Given the description of an element on the screen output the (x, y) to click on. 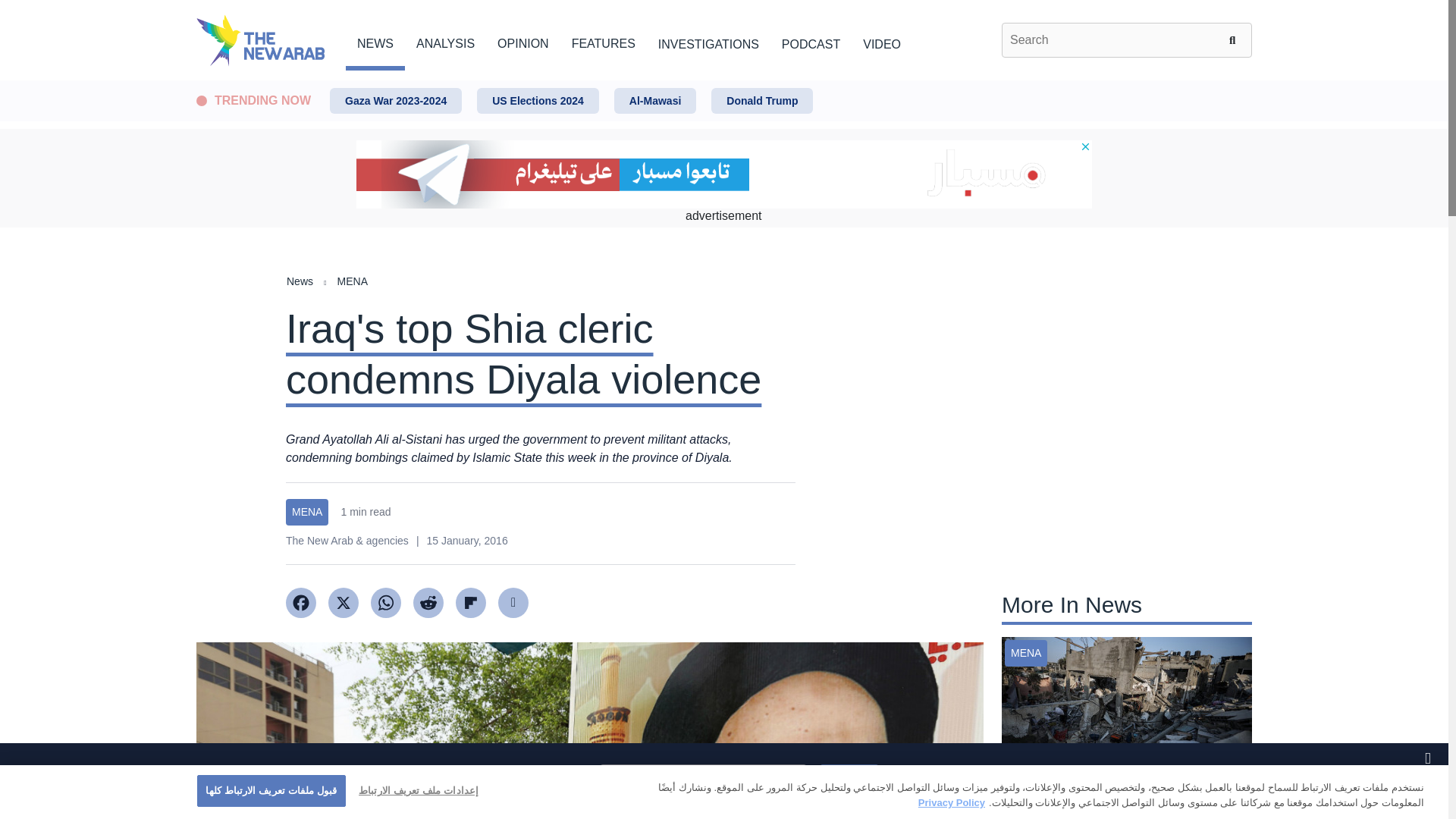
ANALYSIS (445, 41)
NEWS (375, 41)
OPINION (523, 41)
Skip to main content (724, 81)
Search (1234, 39)
